Given the description of an element on the screen output the (x, y) to click on. 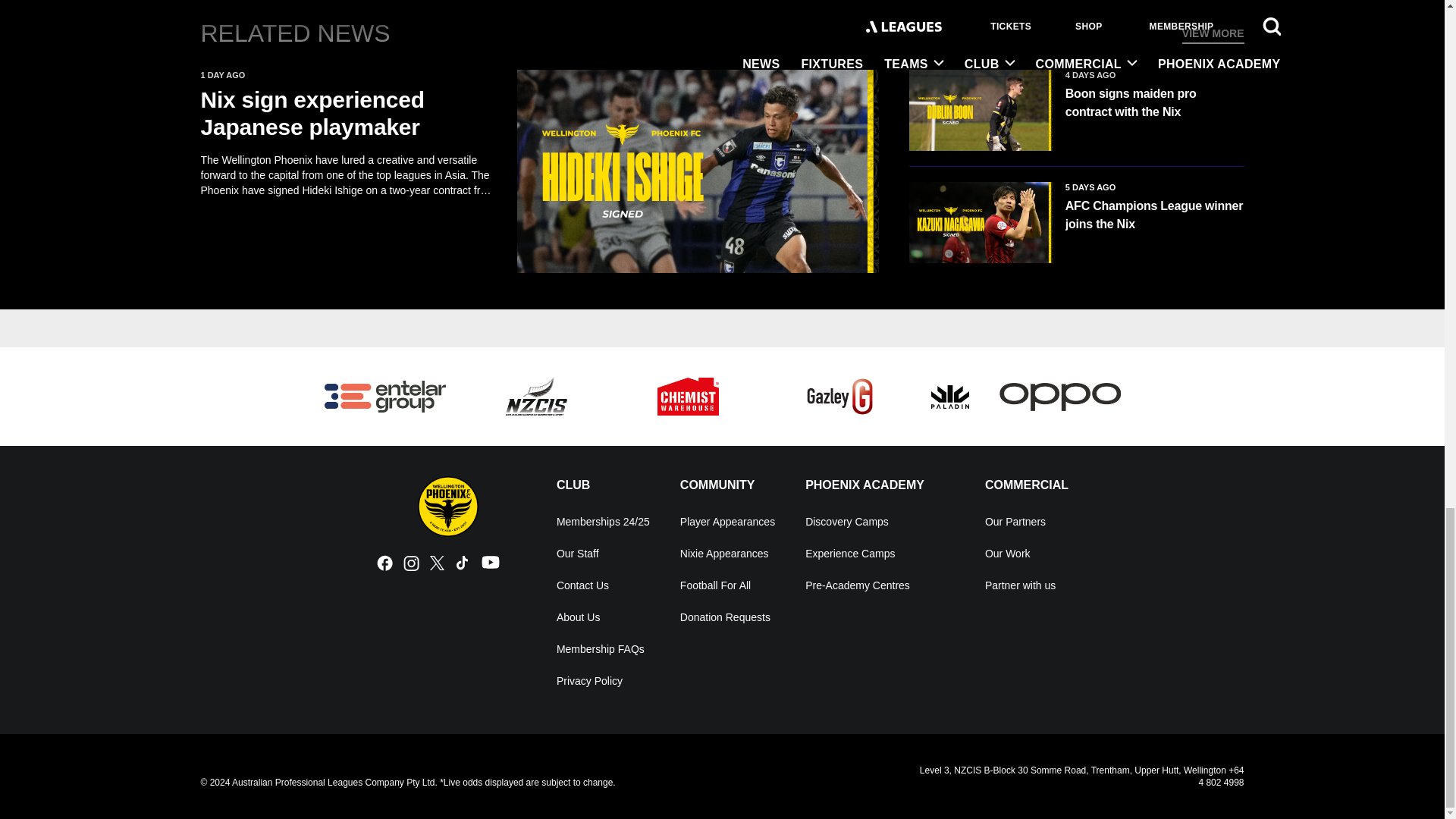
Chemist Warehouse (688, 396)
Paladin (950, 396)
NZCIS (536, 396)
Entelar Group (384, 396)
OPPO (1059, 397)
Gazley (839, 396)
